Given the description of an element on the screen output the (x, y) to click on. 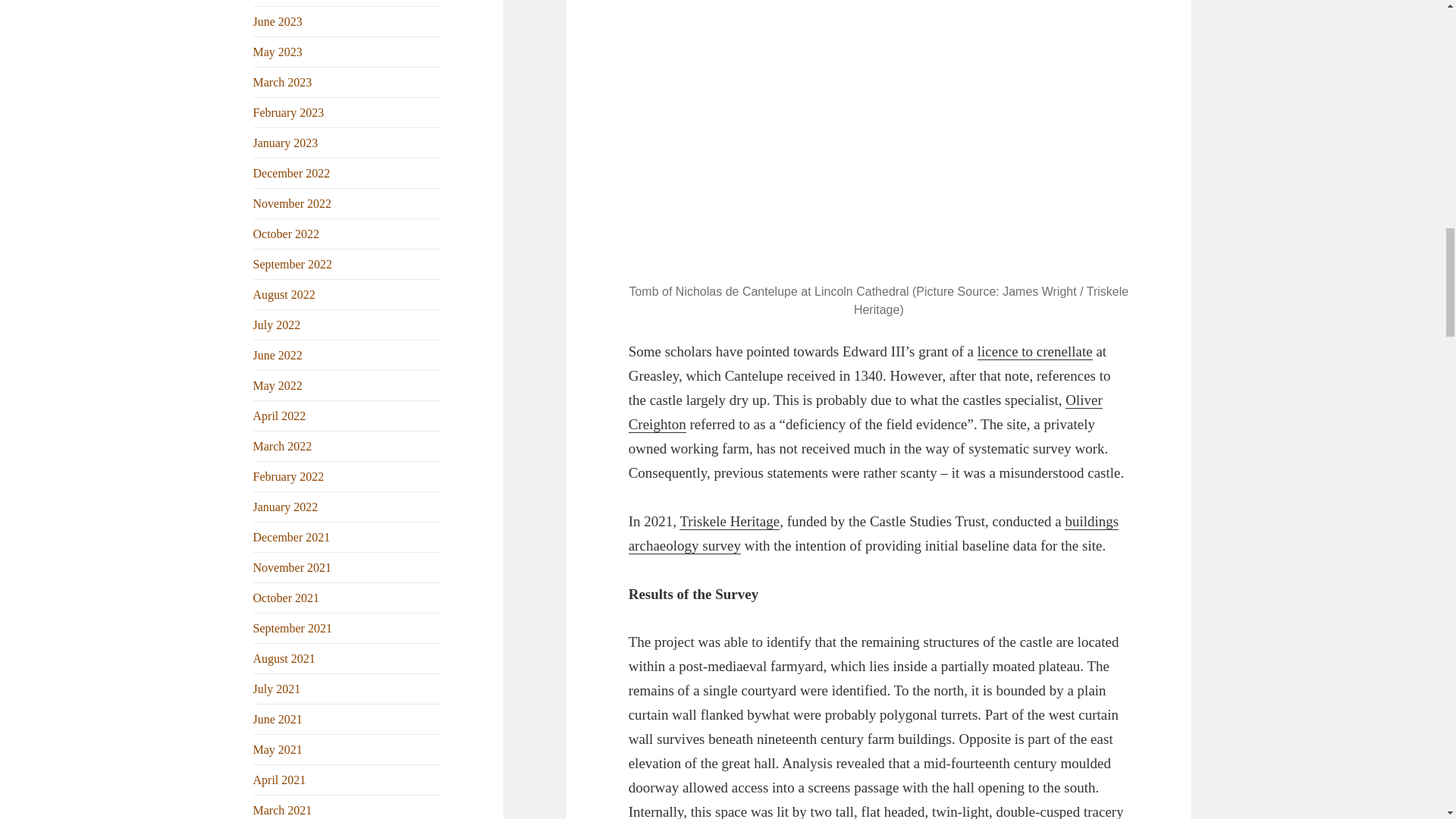
May 2023 (277, 51)
October 2022 (286, 233)
February 2023 (288, 112)
January 2023 (285, 142)
March 2023 (283, 82)
November 2022 (292, 203)
December 2022 (291, 173)
June 2023 (277, 21)
